Given the description of an element on the screen output the (x, y) to click on. 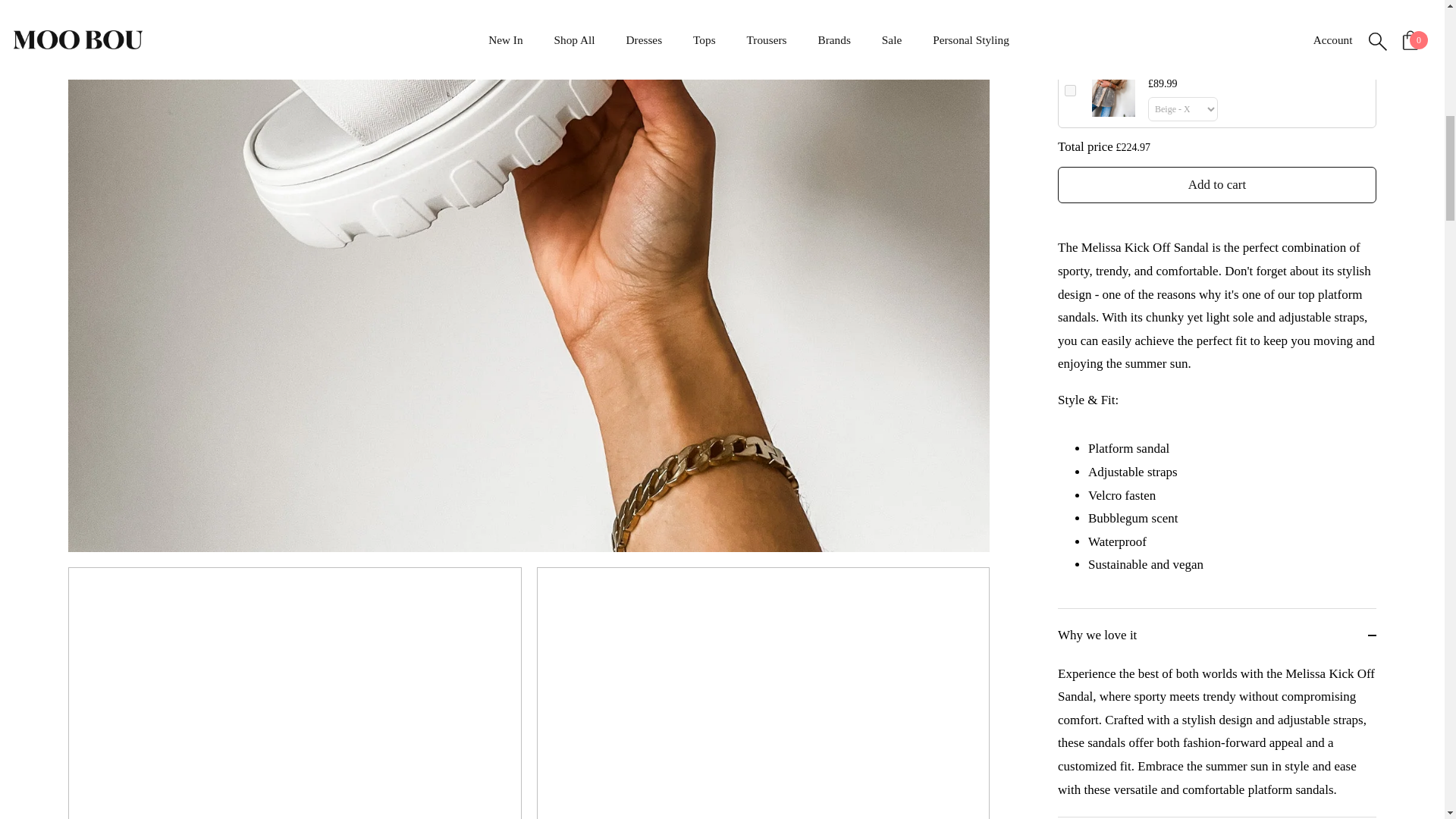
on (1069, 4)
on (1069, 90)
